Given the description of an element on the screen output the (x, y) to click on. 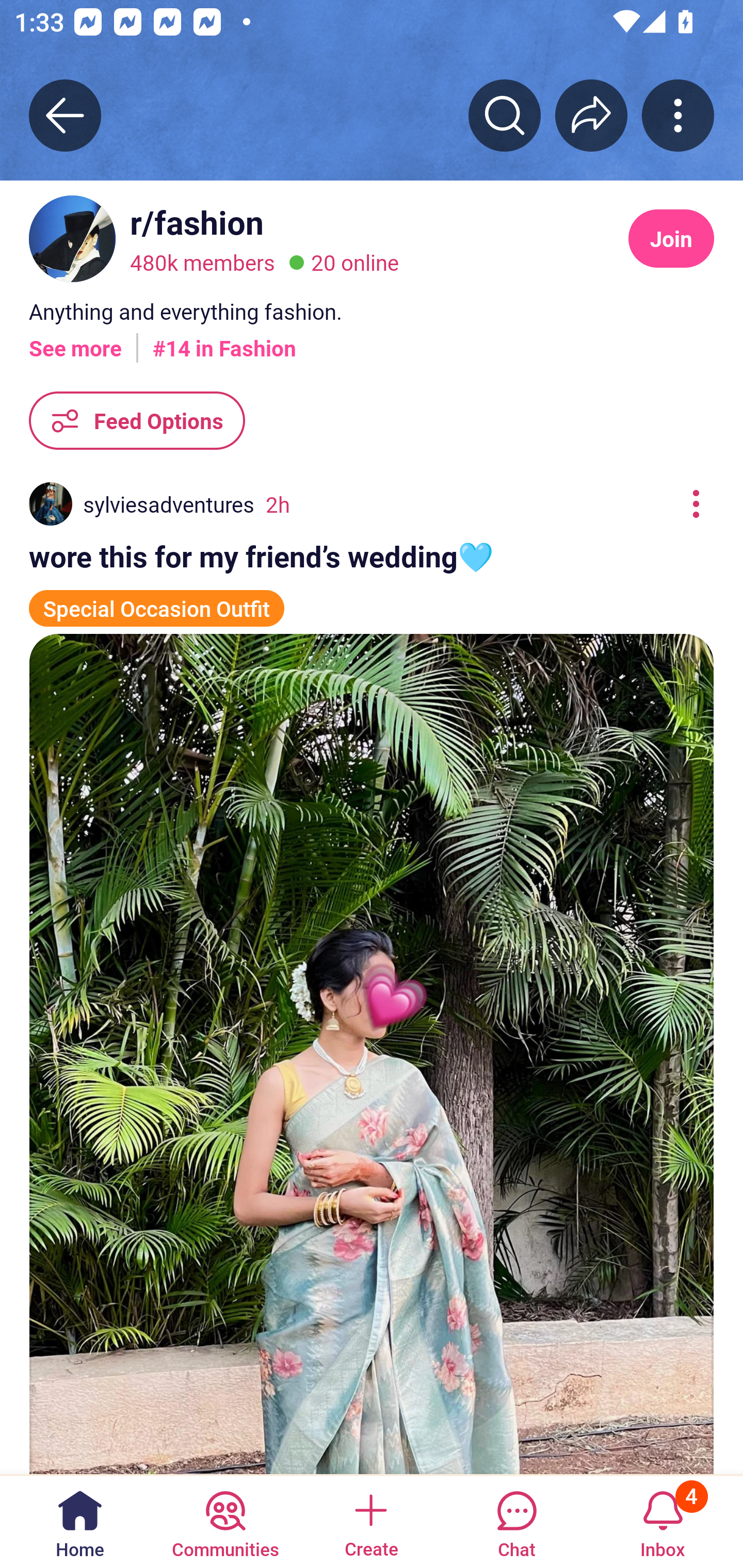
Back (64, 115)
Search r/﻿fashion (504, 115)
Share r/﻿fashion (591, 115)
More community actions (677, 115)
Feed Options (136, 420)
Special Occasion Outfit (156, 599)
Home (80, 1520)
Communities (225, 1520)
Create a post Create (370, 1520)
Chat (516, 1520)
Inbox, has 4 notifications 4 Inbox (662, 1520)
